Given the description of an element on the screen output the (x, y) to click on. 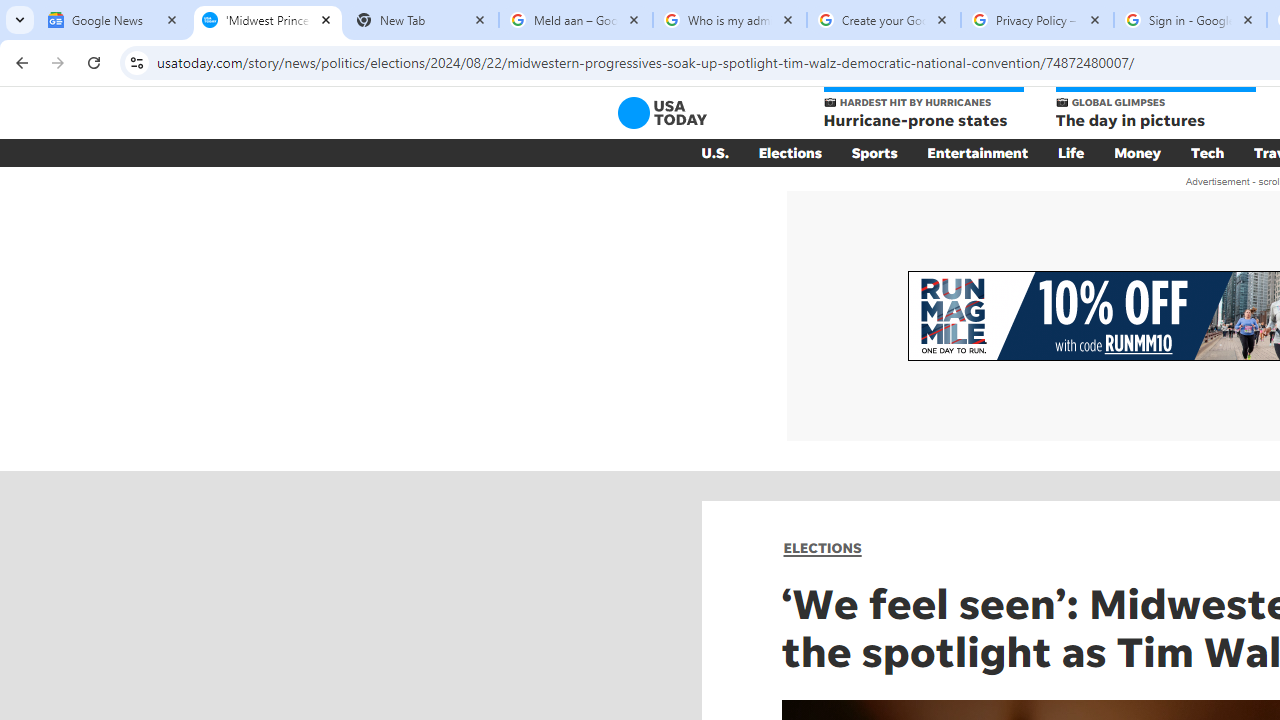
ELECTIONS (822, 548)
Reload (93, 62)
Forward (57, 62)
Sign in - Google Accounts (1190, 20)
U.S. (714, 152)
New Tab (421, 20)
Money (1137, 152)
Sports (873, 152)
Back (19, 62)
View site information (136, 62)
